Given the description of an element on the screen output the (x, y) to click on. 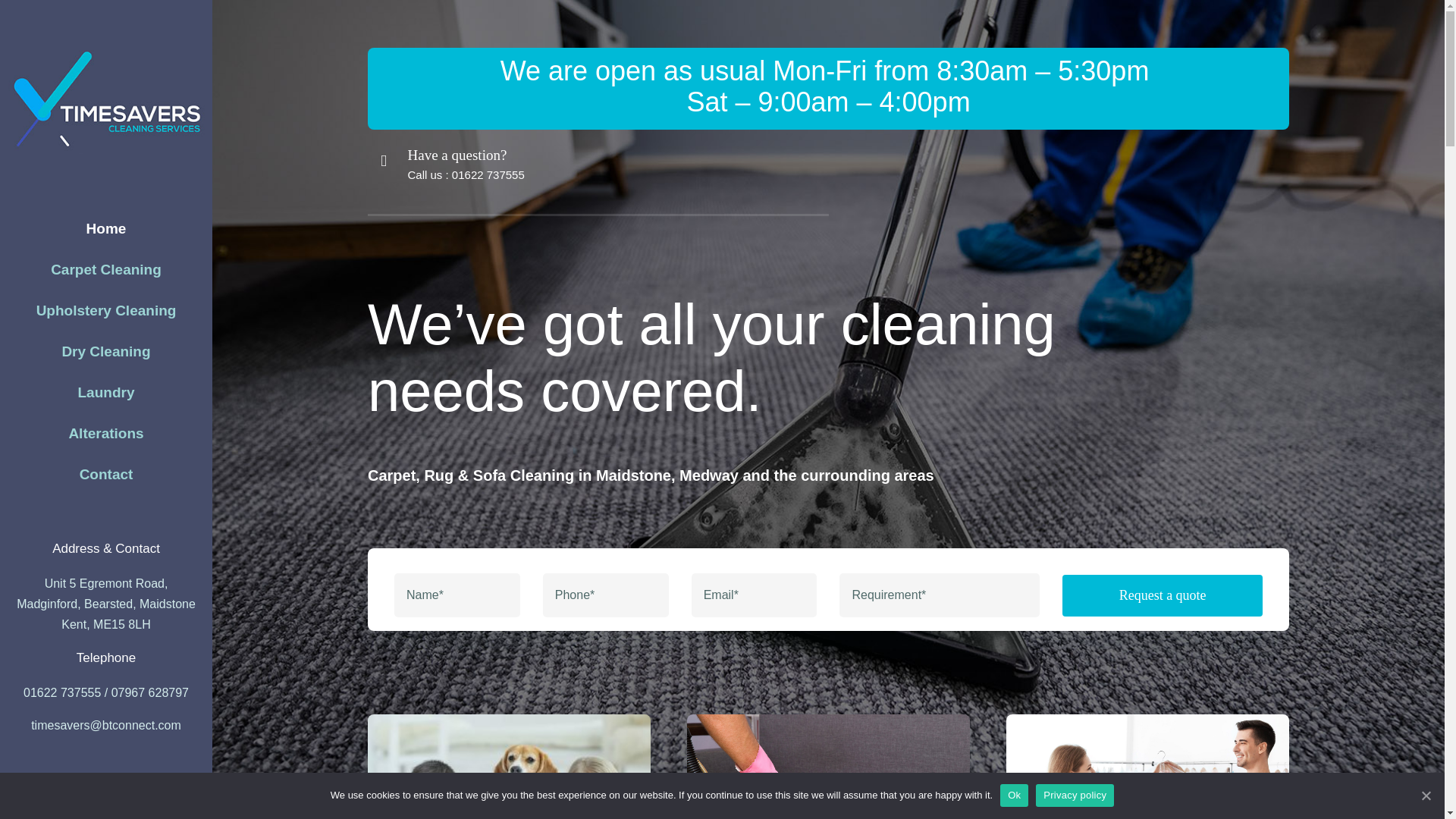
Laundry (106, 392)
Carpet Cleaning (106, 269)
Alterations (106, 433)
Request a quote (828, 595)
01622 737555 (61, 692)
07967 628797 (150, 692)
Only numbers and phone characters are accepted. (605, 595)
01622 737555 (487, 174)
Upholstery Cleaning (106, 310)
Contact (106, 474)
